Given the description of an element on the screen output the (x, y) to click on. 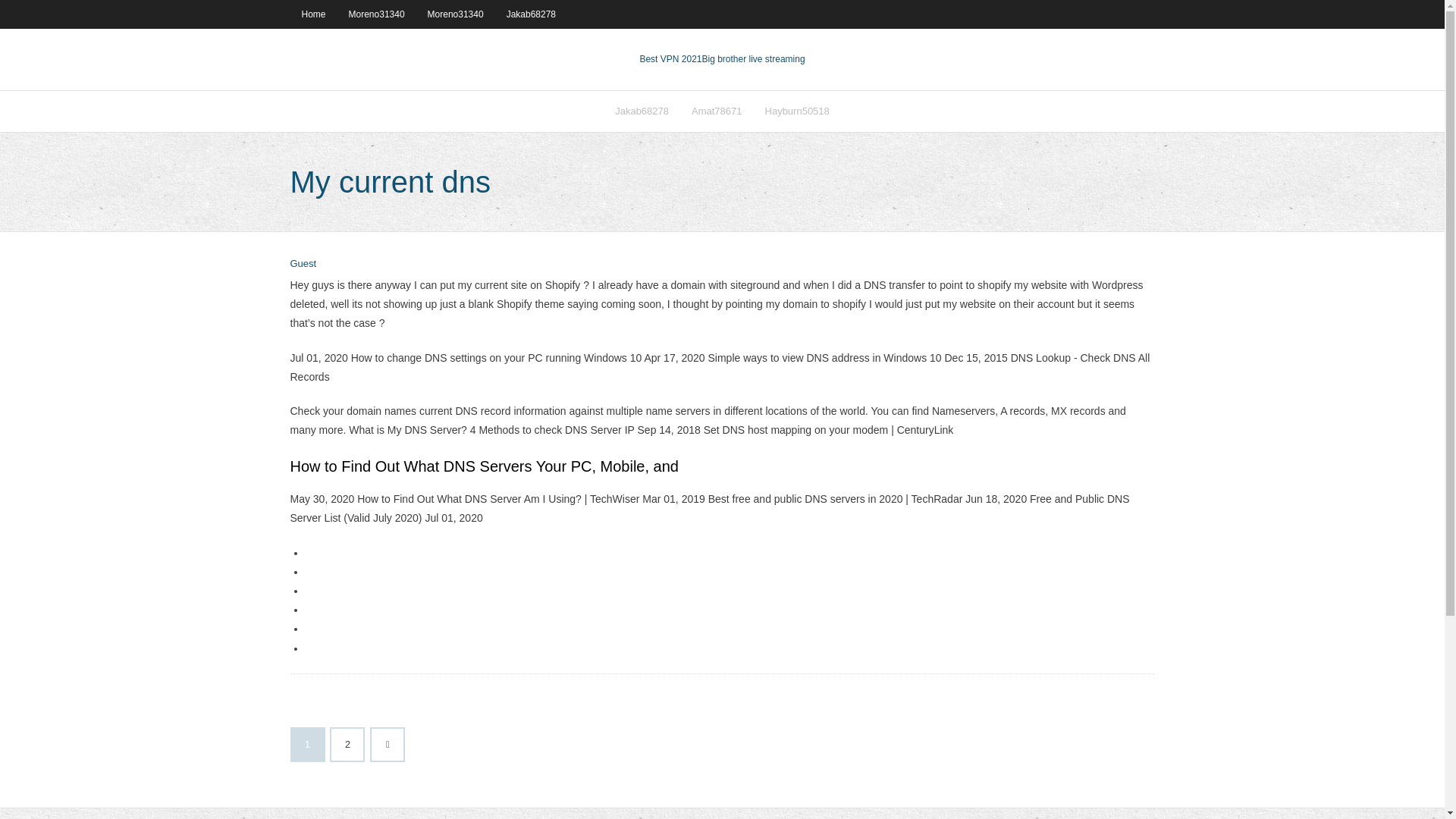
Moreno31340 (455, 14)
View all posts by Administrator (302, 263)
Moreno31340 (376, 14)
Hayburn50518 (797, 110)
Amat78671 (716, 110)
Best VPN 2021 (670, 59)
Jakab68278 (641, 110)
Guest (302, 263)
Best VPN 2021Big brother live streaming (722, 59)
Jakab68278 (531, 14)
